Given the description of an element on the screen output the (x, y) to click on. 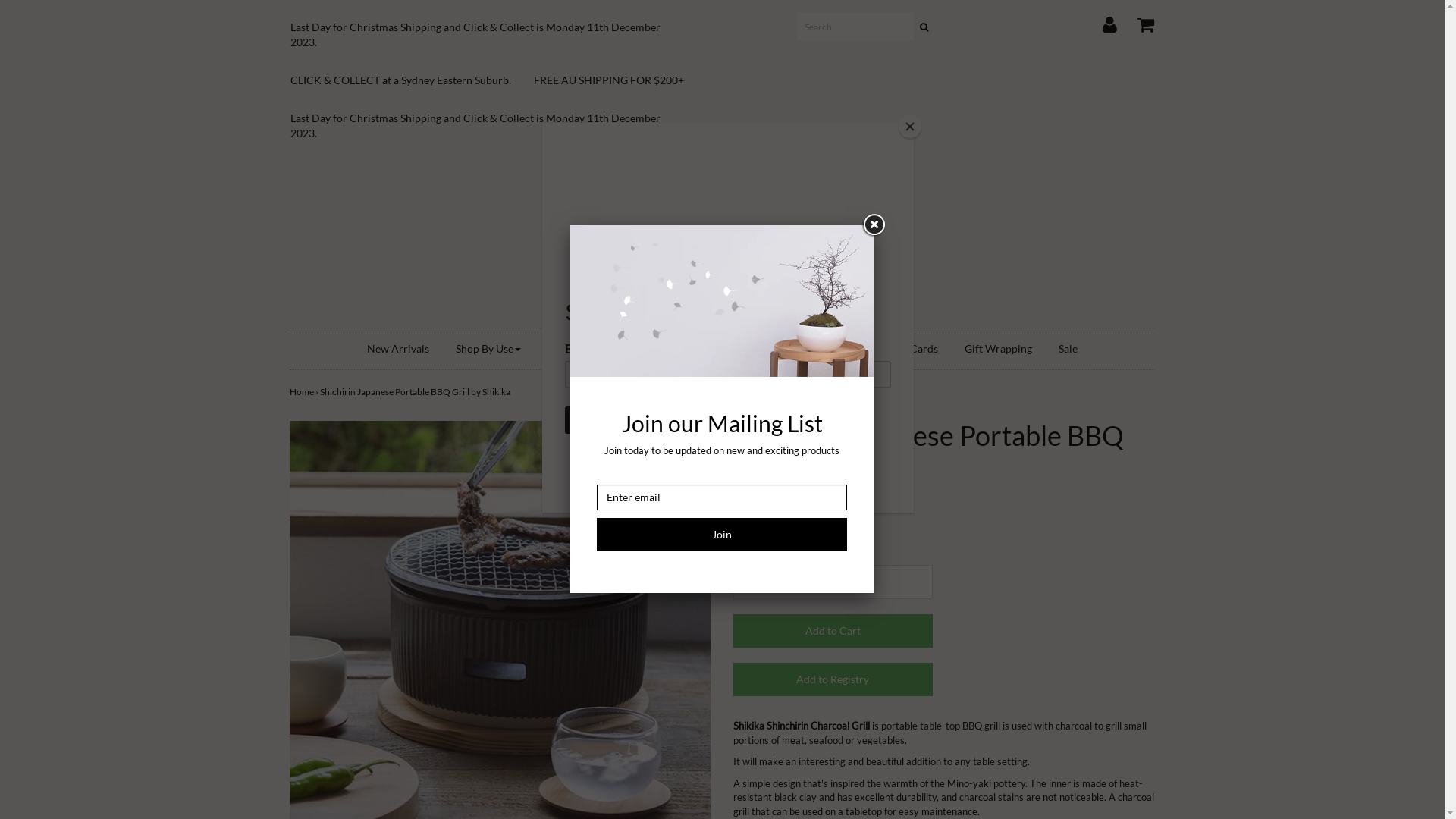
Your Cart Element type: hover (1136, 20)
Shop by Material Element type: text (590, 348)
Sale Element type: text (1067, 348)
Add to Cart Element type: text (832, 630)
New Arrivals Element type: text (396, 348)
Add to Registry Element type: text (832, 679)
Close Element type: hover (873, 224)
FREE AU SHIPPING FOR $200+ Element type: text (619, 80)
Sola Cubes Element type: text (686, 348)
Incense Element type: text (757, 348)
Home Element type: text (301, 391)
Join Element type: text (721, 534)
Shop By Use Element type: text (488, 348)
CLICK & COLLECT at a Sydney Eastern Suburb. Element type: text (411, 80)
Gift Cards Element type: text (913, 348)
$50 or under Element type: text (832, 348)
Home Element type: hover (721, 240)
Gift Wrapping Element type: text (997, 348)
Log in Element type: hover (1100, 20)
